Given the description of an element on the screen output the (x, y) to click on. 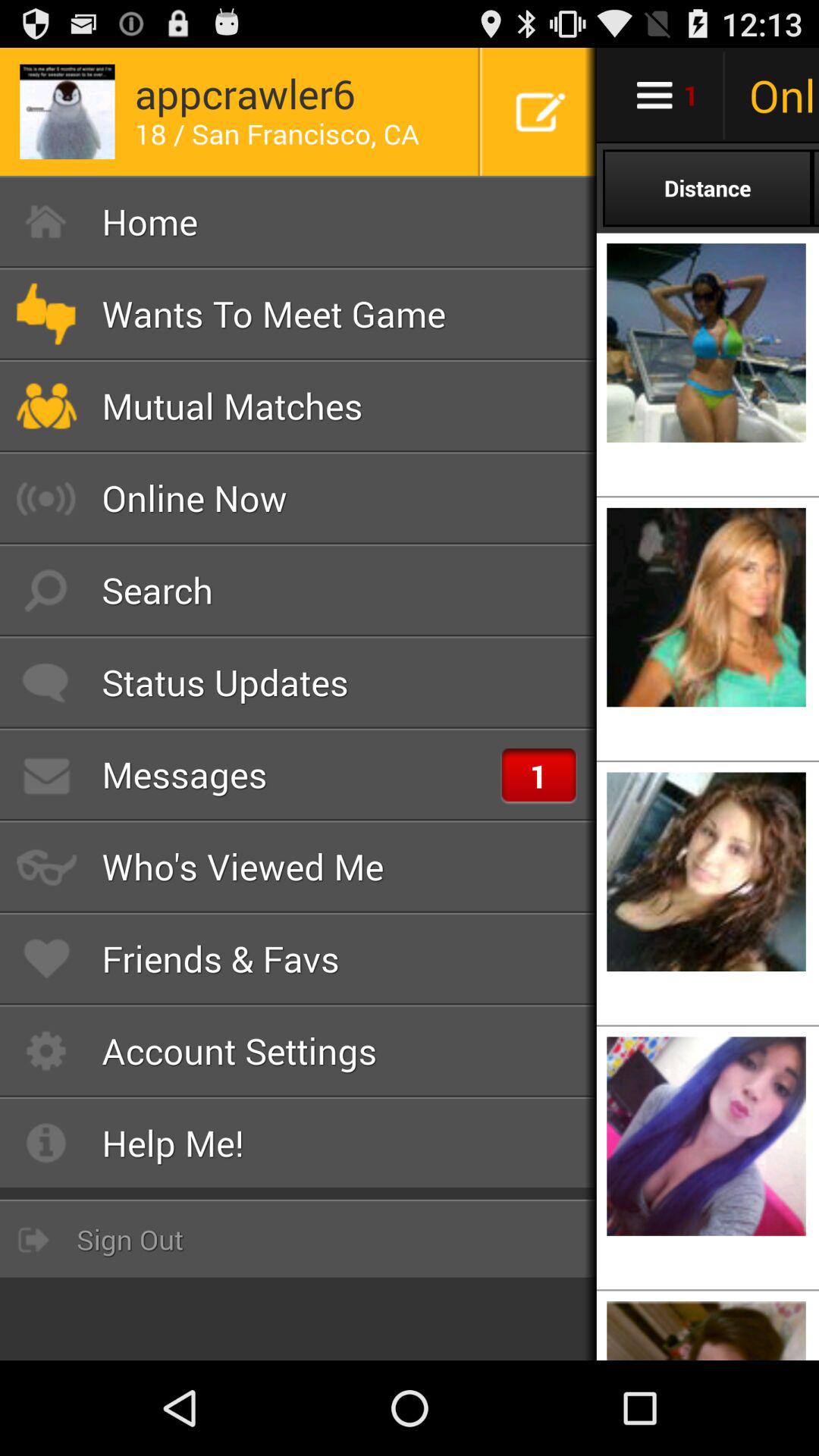
click on the edit option on the top right of appcrawler6 text (539, 112)
click on the distance option (707, 188)
click on the image just below distance (705, 342)
